Given the description of an element on the screen output the (x, y) to click on. 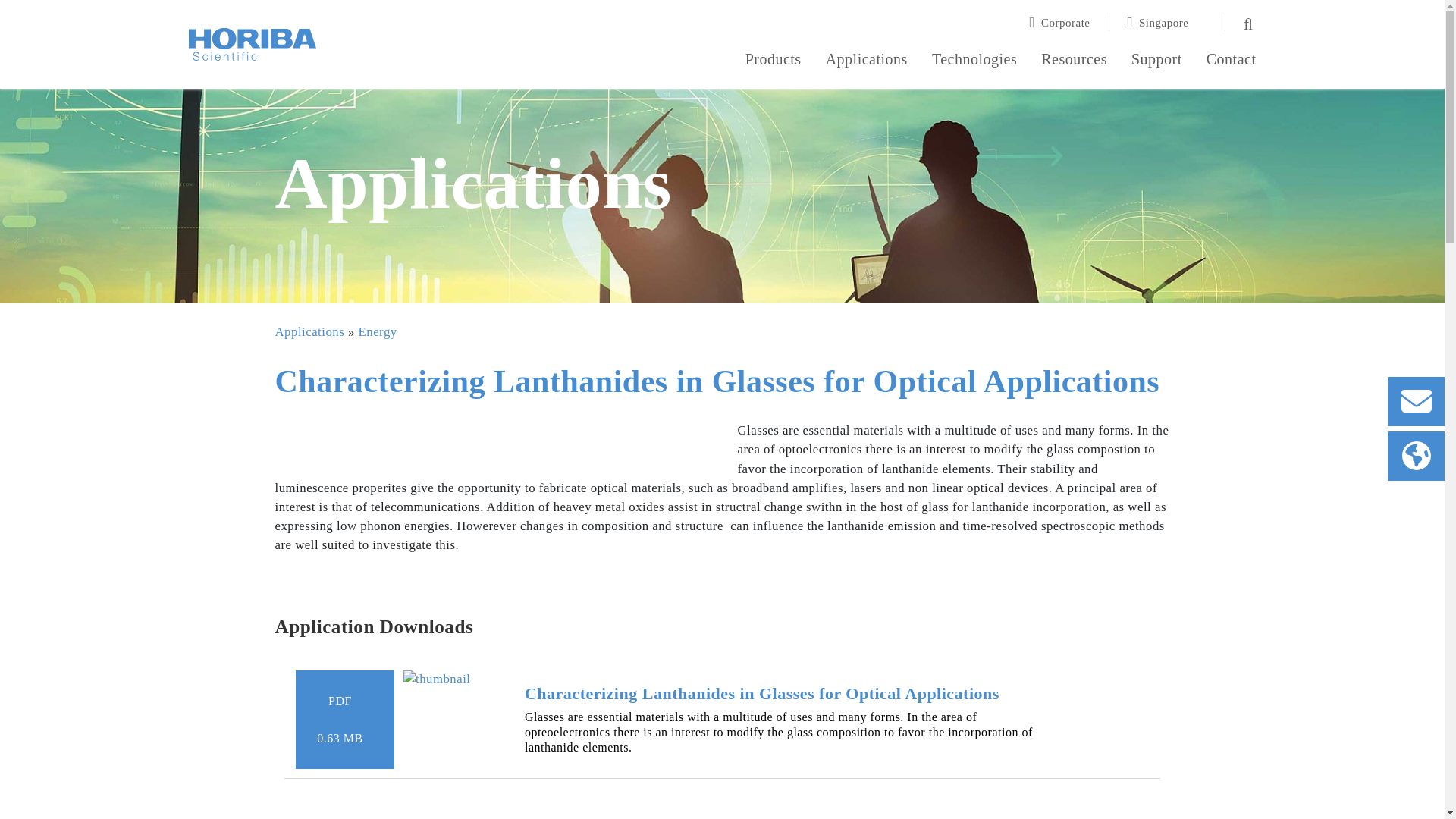
Contact (1231, 61)
Singapore (1167, 22)
Products (773, 61)
Support (1156, 61)
Products (773, 61)
Corporate (1069, 22)
Applications (866, 61)
Technologies (973, 61)
Resources (1073, 61)
